Given the description of an element on the screen output the (x, y) to click on. 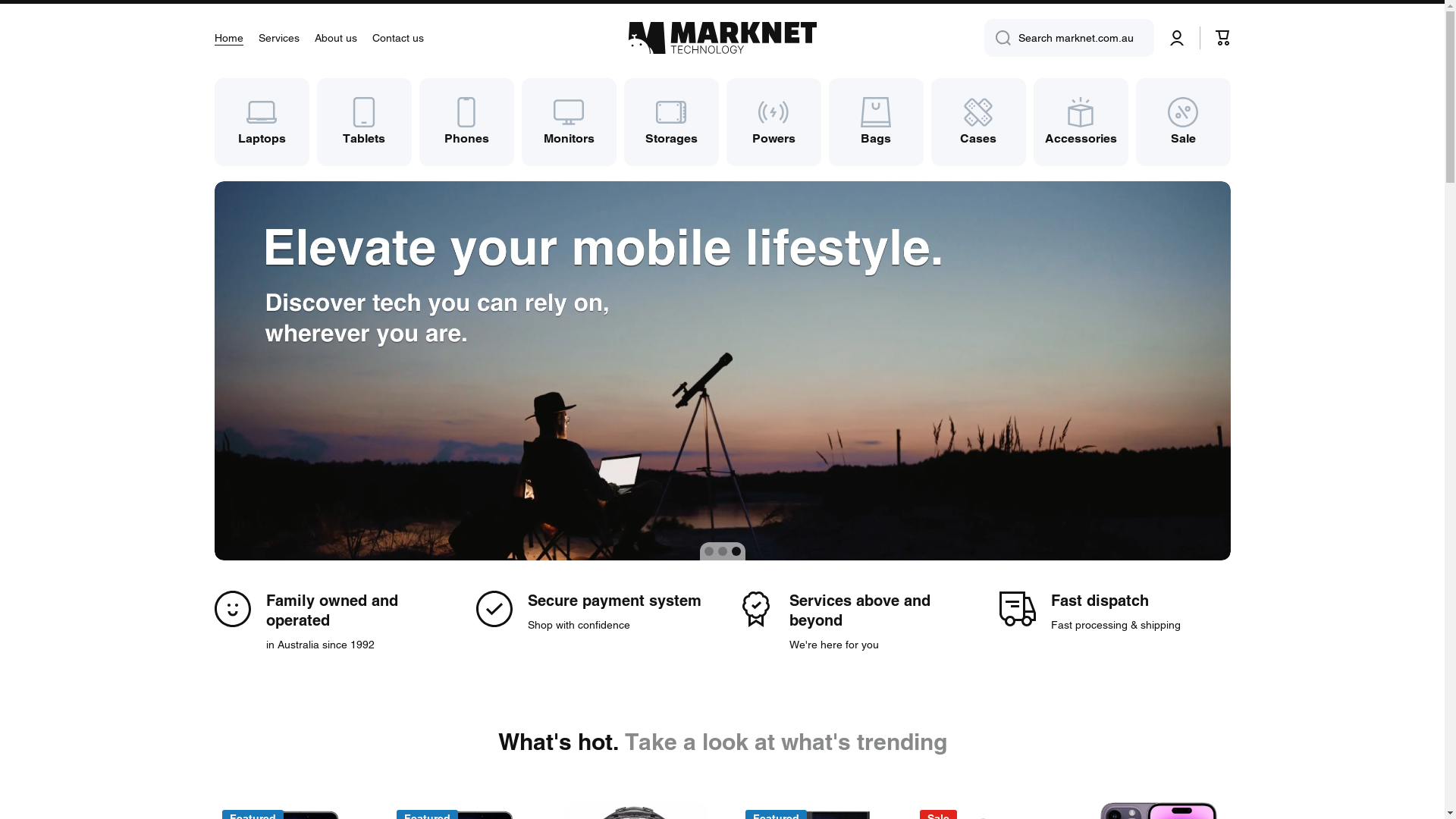
Phones Element type: text (465, 122)
Storages Element type: text (670, 122)
Contact us Element type: text (397, 37)
Services Element type: text (277, 37)
Home Element type: text (227, 37)
Monitors Element type: text (568, 122)
Bags Element type: text (875, 122)
Cart Element type: text (1222, 37)
Tablets Element type: text (363, 122)
Log in Element type: text (1176, 37)
Accessories Element type: text (1079, 122)
About us Element type: text (334, 37)
Powers Element type: text (773, 122)
Cases Element type: text (978, 122)
Laptops Element type: text (260, 122)
Sale Element type: text (1182, 122)
